Given the description of an element on the screen output the (x, y) to click on. 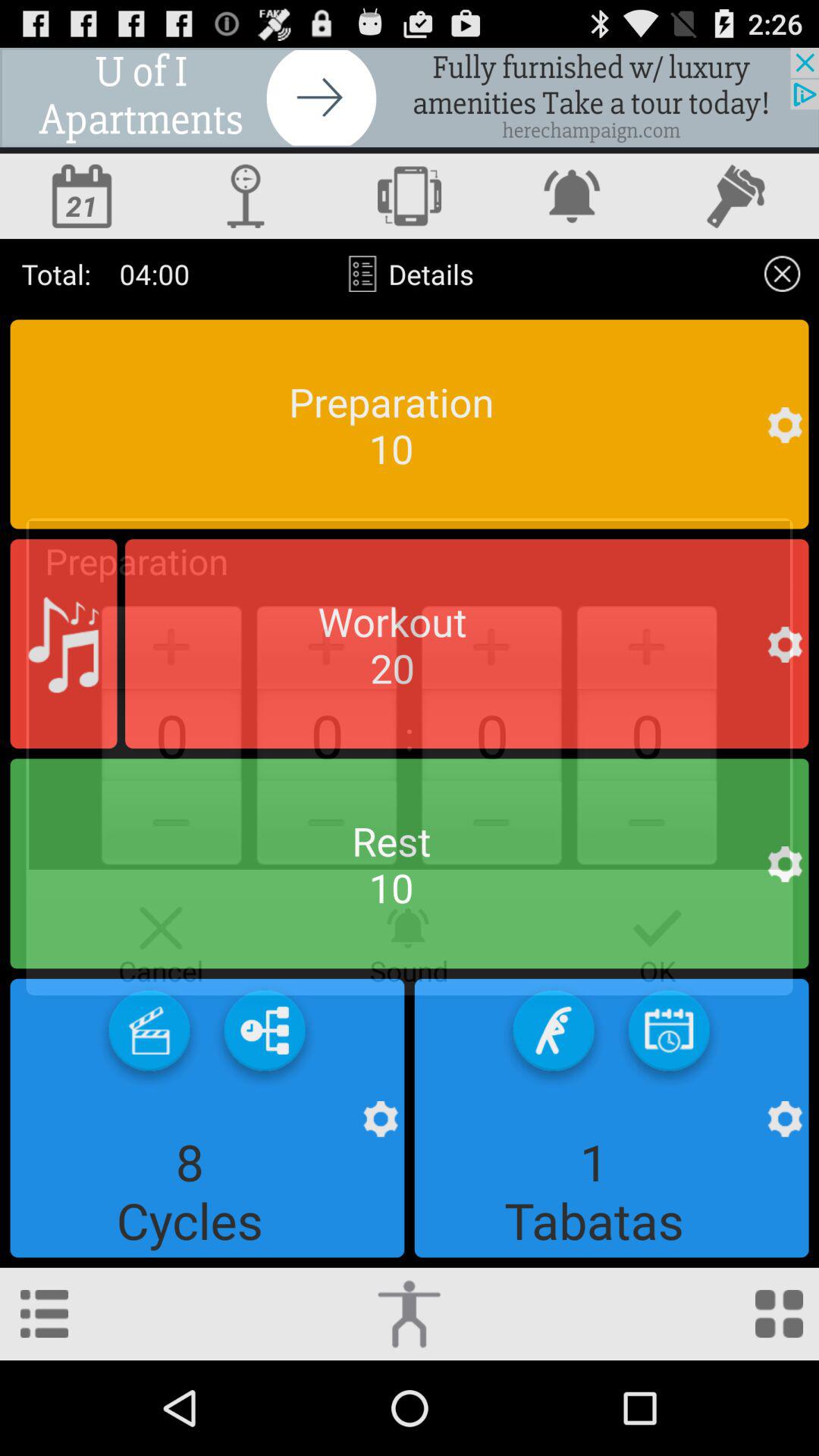
select the third option in first row (409, 196)
